Given the description of an element on the screen output the (x, y) to click on. 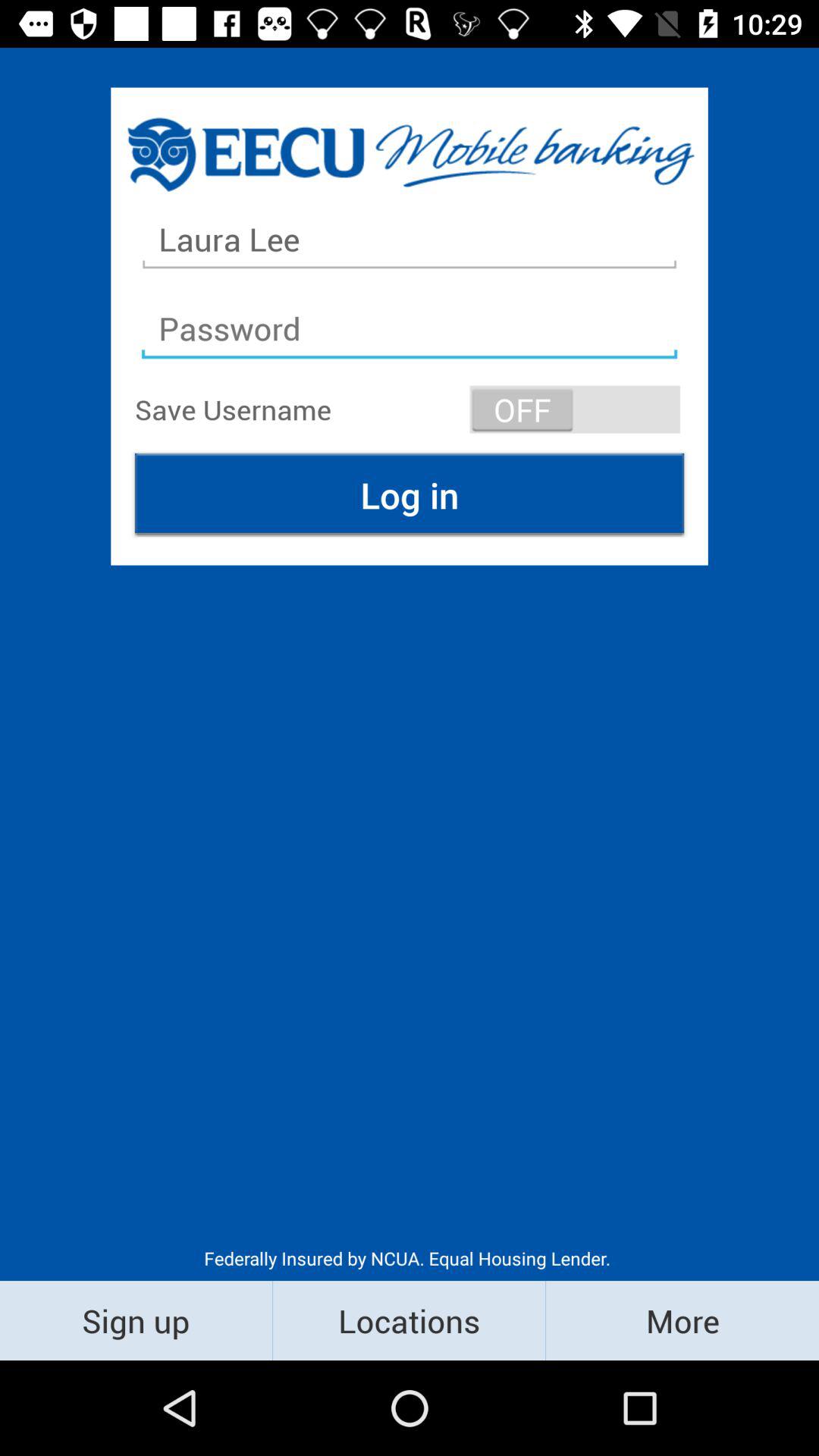
launch icon below the federally insured by (682, 1320)
